Given the description of an element on the screen output the (x, y) to click on. 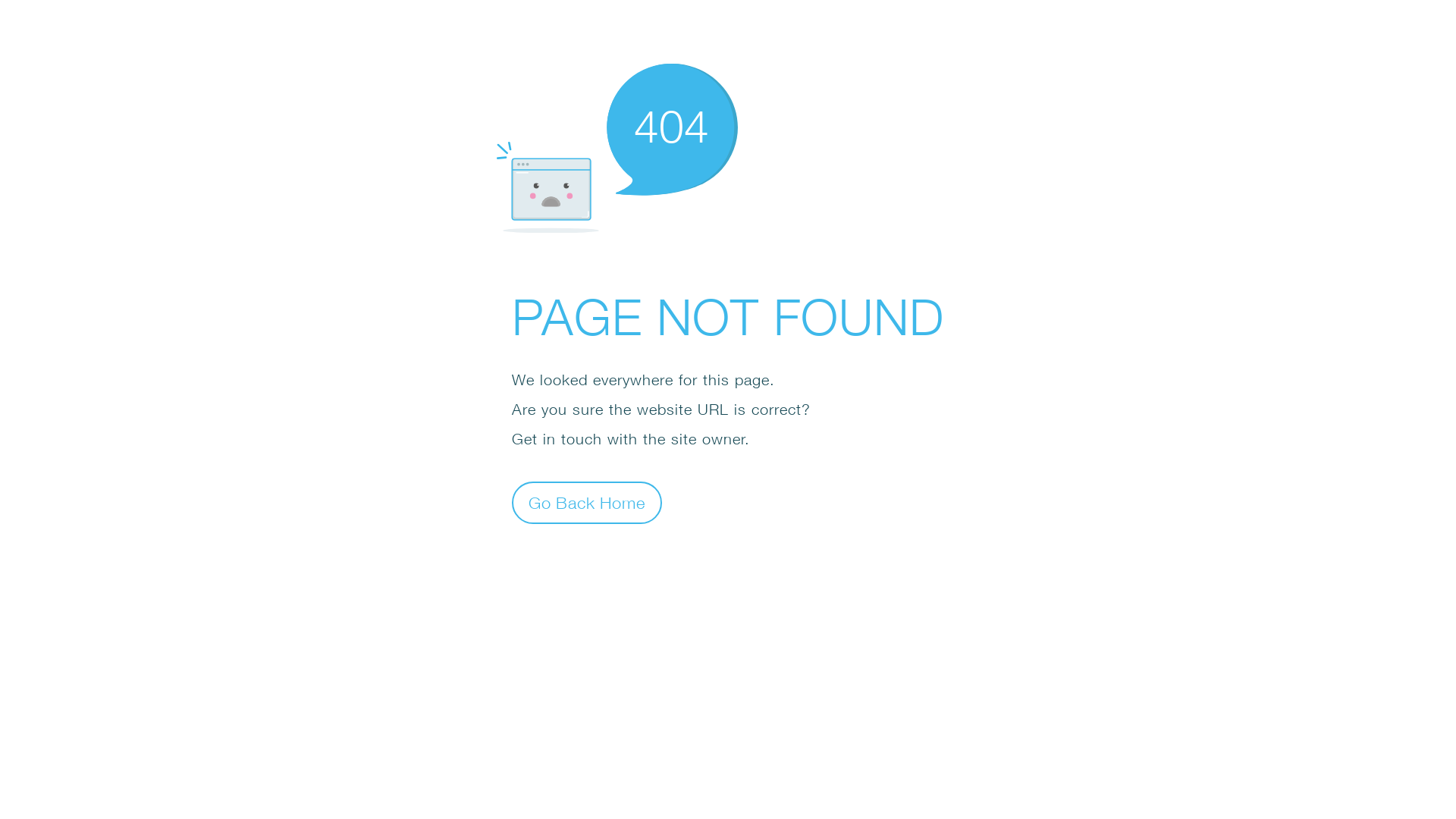
Go Back Home Element type: text (586, 502)
